Given the description of an element on the screen output the (x, y) to click on. 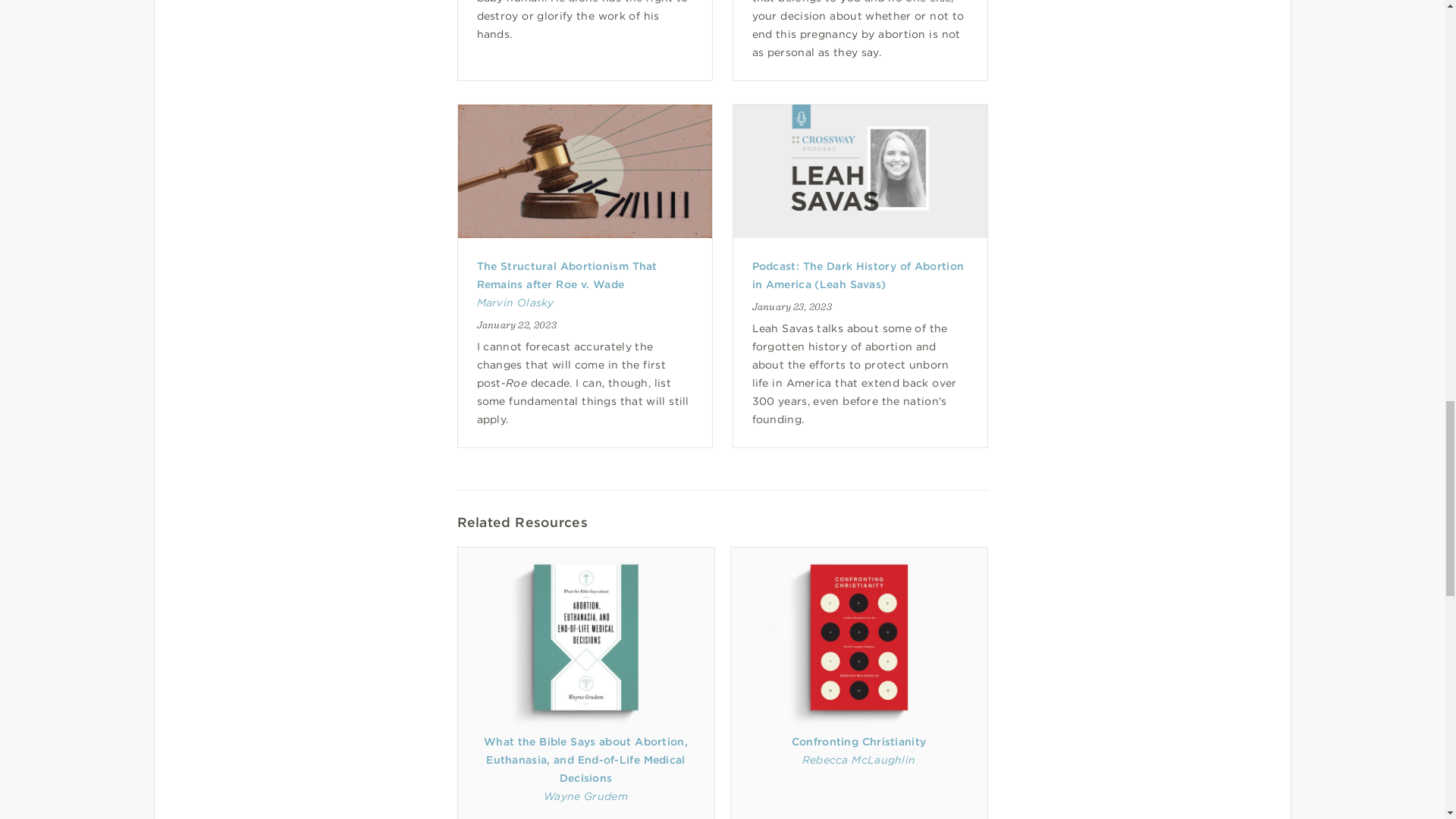
Wayne Grudem (585, 796)
The Structural Abortionism That Remains after Roe v. Wade (566, 275)
Confronting Christianity (859, 741)
Marvin Olasky (514, 302)
Rebecca McLaughlin (858, 759)
